Given the description of an element on the screen output the (x, y) to click on. 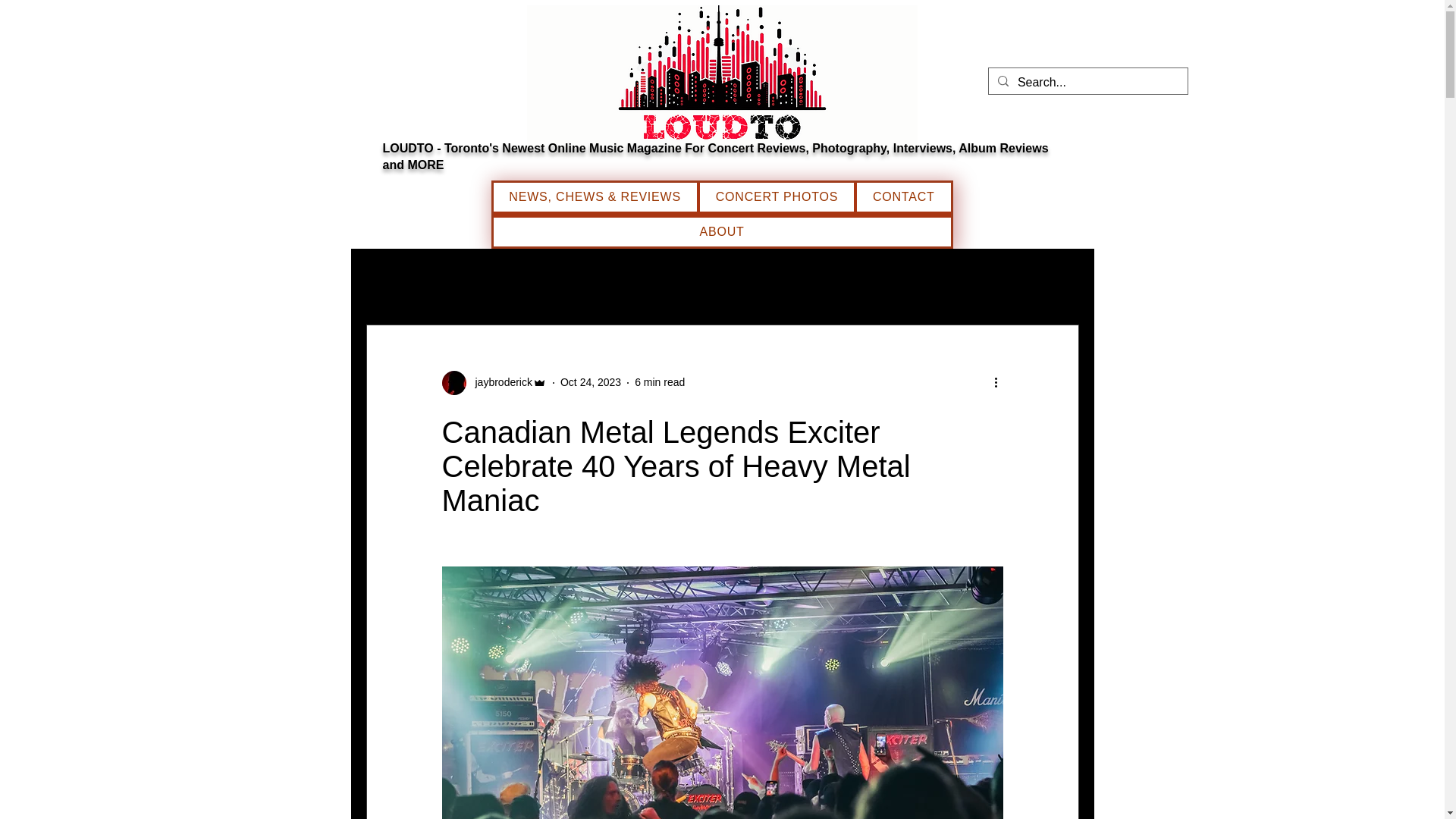
6 min read (659, 381)
jaybroderick (498, 382)
Oct 24, 2023 (590, 381)
CONCERT PHOTOS (776, 196)
